Given the description of an element on the screen output the (x, y) to click on. 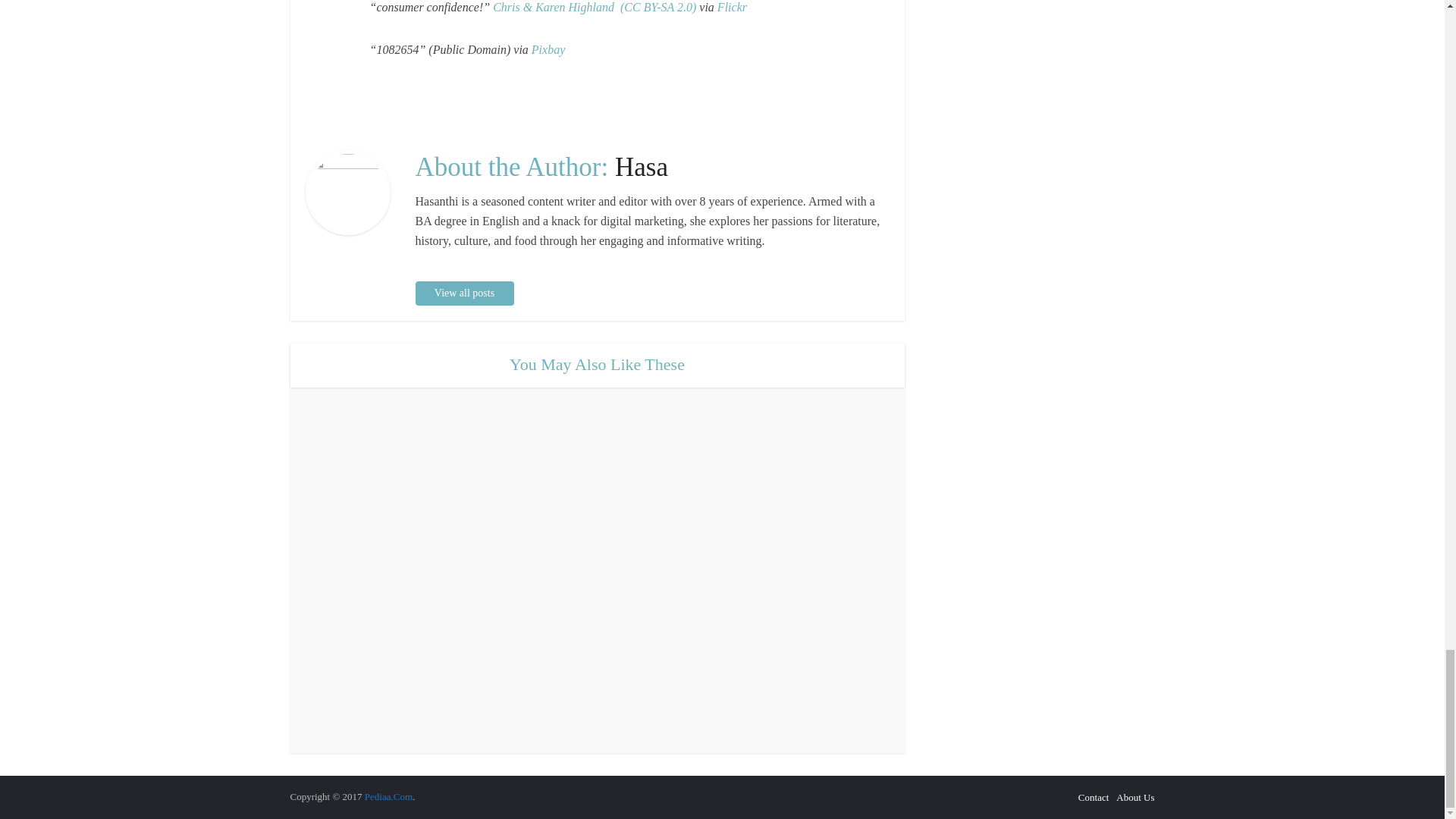
View all posts (463, 293)
Pixbay (547, 49)
Flickr (731, 6)
